Given the description of an element on the screen output the (x, y) to click on. 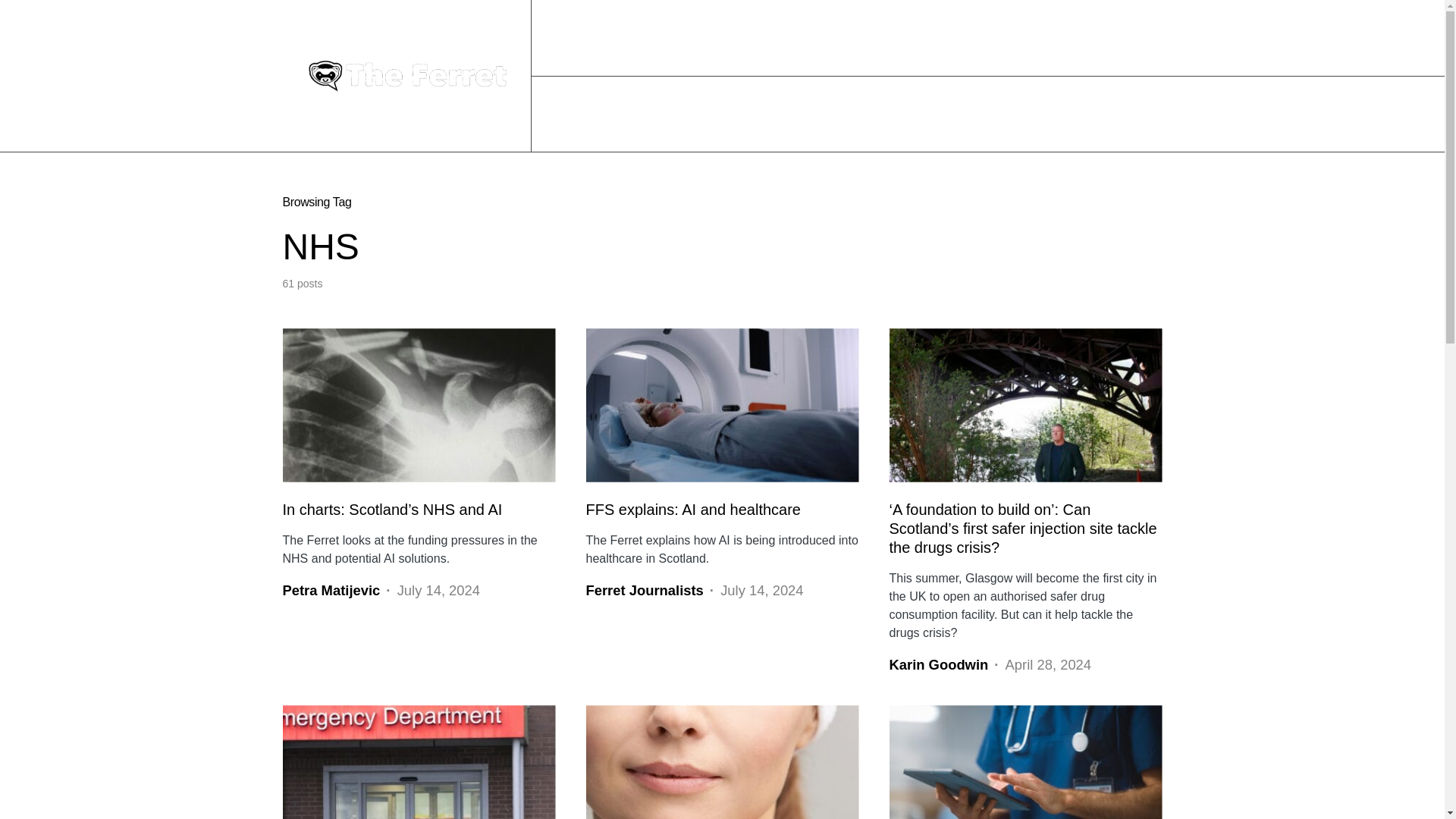
View all posts by Ferret Journalists (644, 590)
View all posts by Karin Goodwin (938, 664)
View all posts by Petra Matijevic (331, 590)
